Given the description of an element on the screen output the (x, y) to click on. 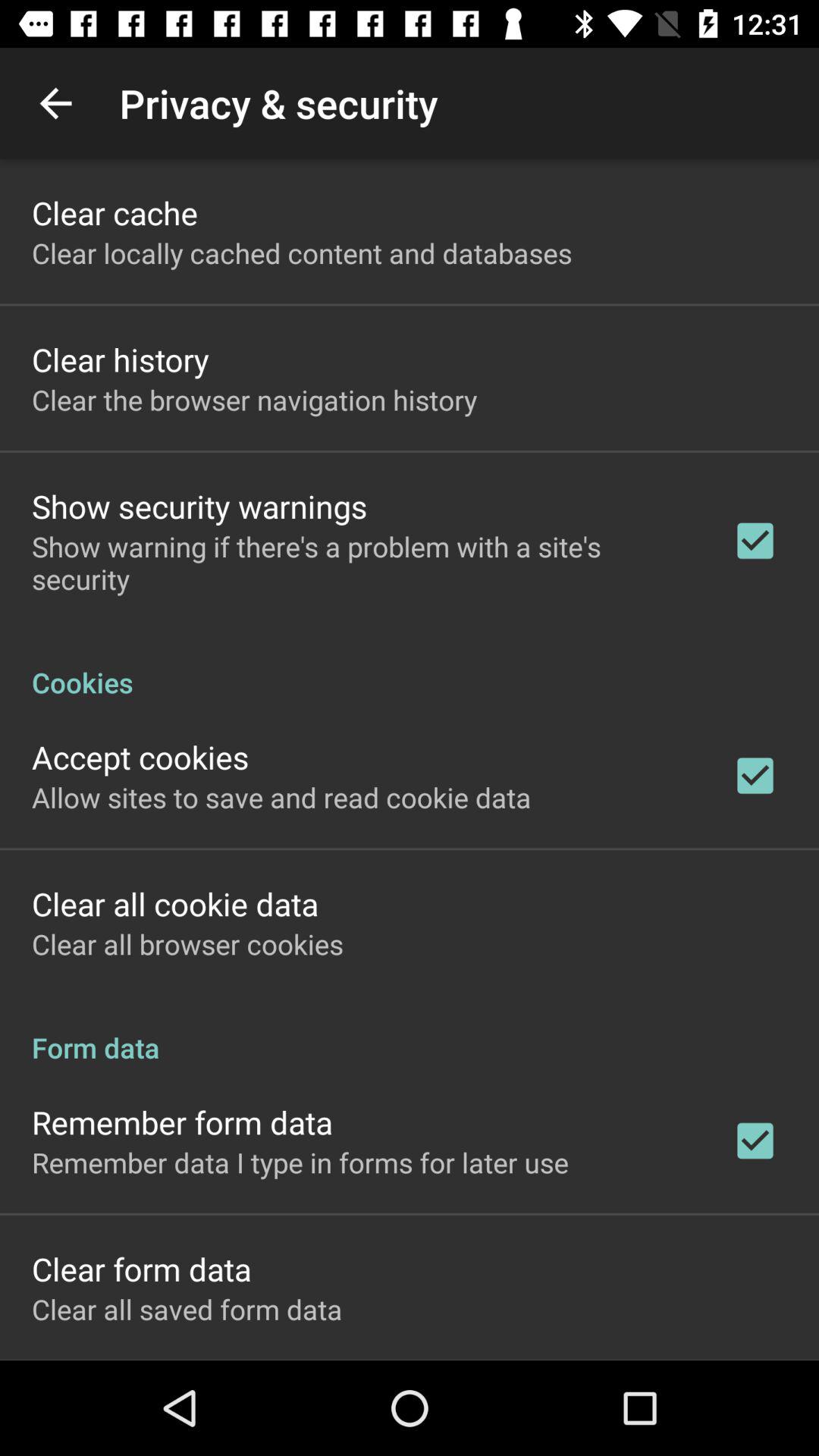
select the icon above clear history icon (301, 252)
